Given the description of an element on the screen output the (x, y) to click on. 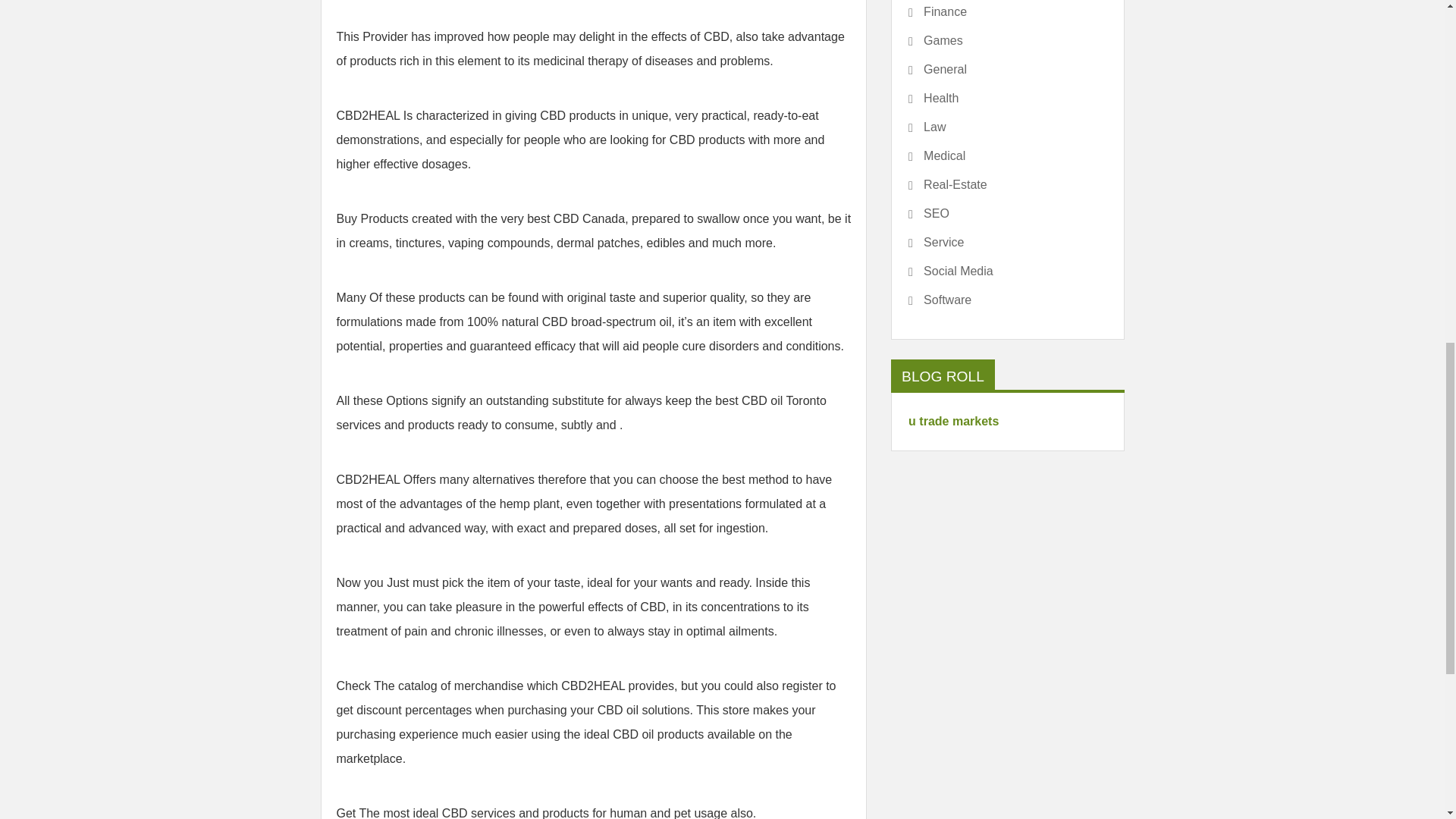
Social Media (950, 271)
Software (939, 300)
Service (935, 242)
Finance (937, 11)
Real-Estate (947, 184)
SEO (928, 213)
u trade markets (953, 420)
Health (933, 98)
Medical (936, 155)
Games (935, 40)
